Given the description of an element on the screen output the (x, y) to click on. 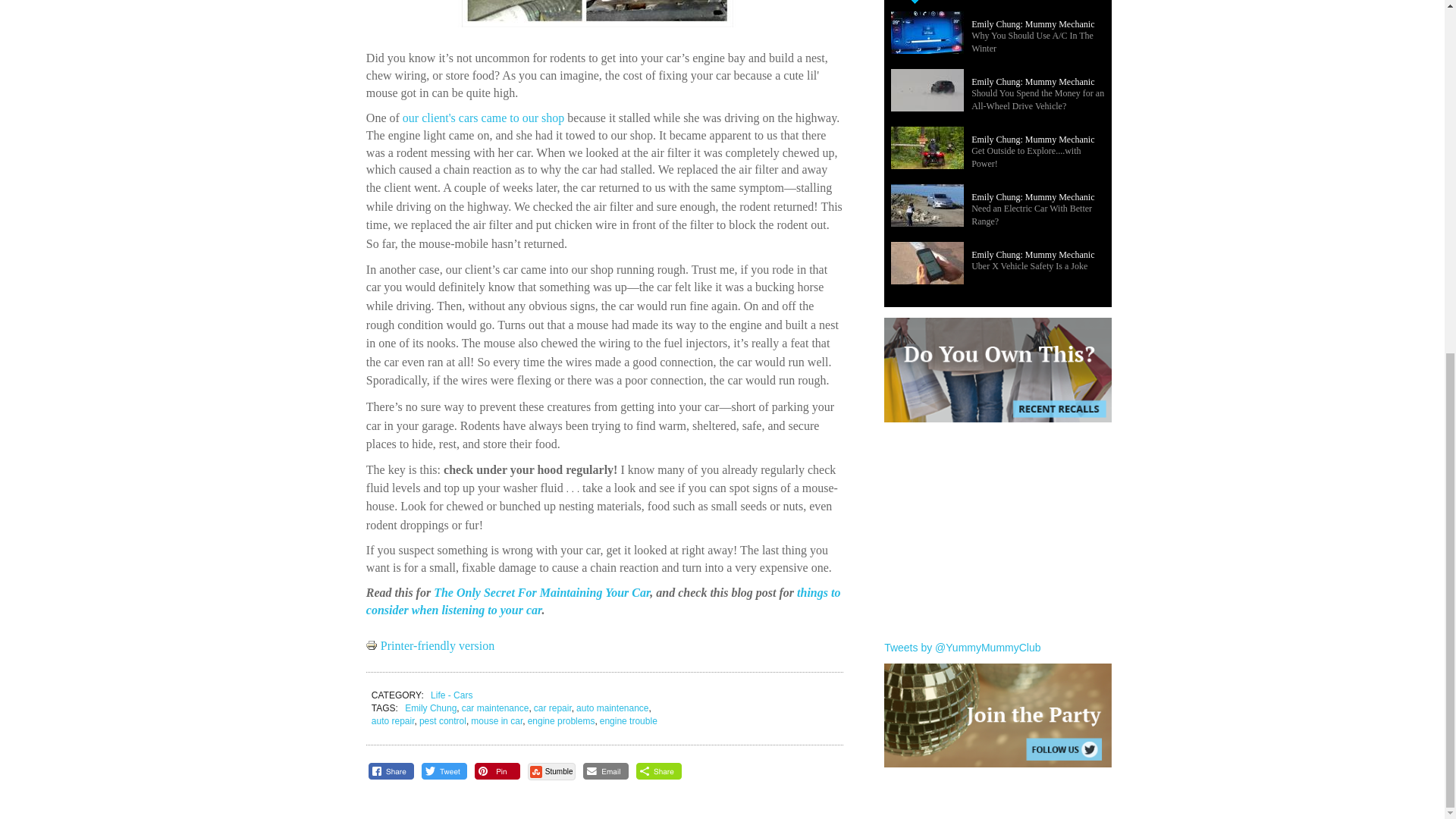
Display a printer-friendly version of this page. (430, 645)
